Given the description of an element on the screen output the (x, y) to click on. 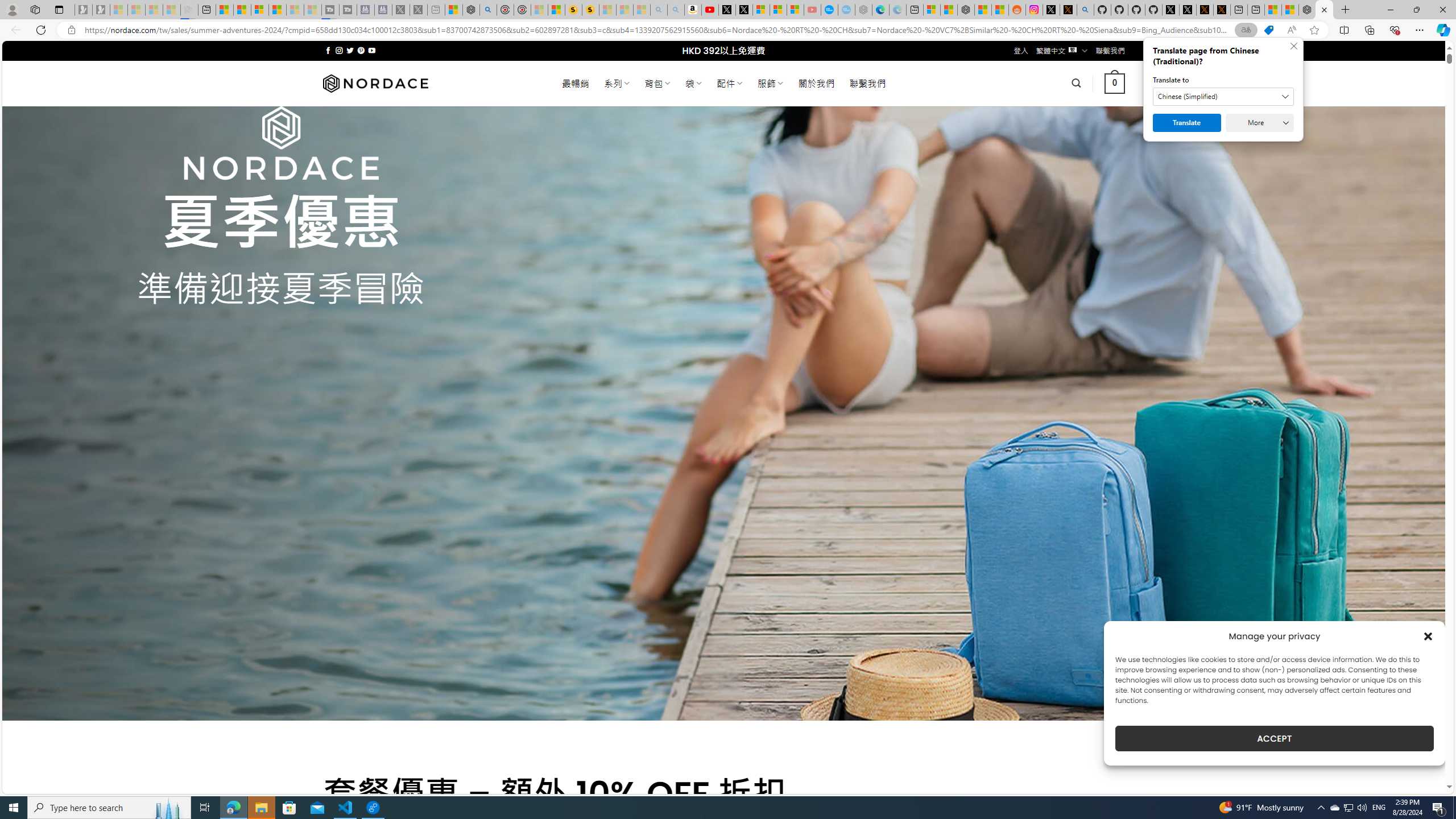
Translate to (1223, 96)
Show translate options (1245, 29)
